Given the description of an element on the screen output the (x, y) to click on. 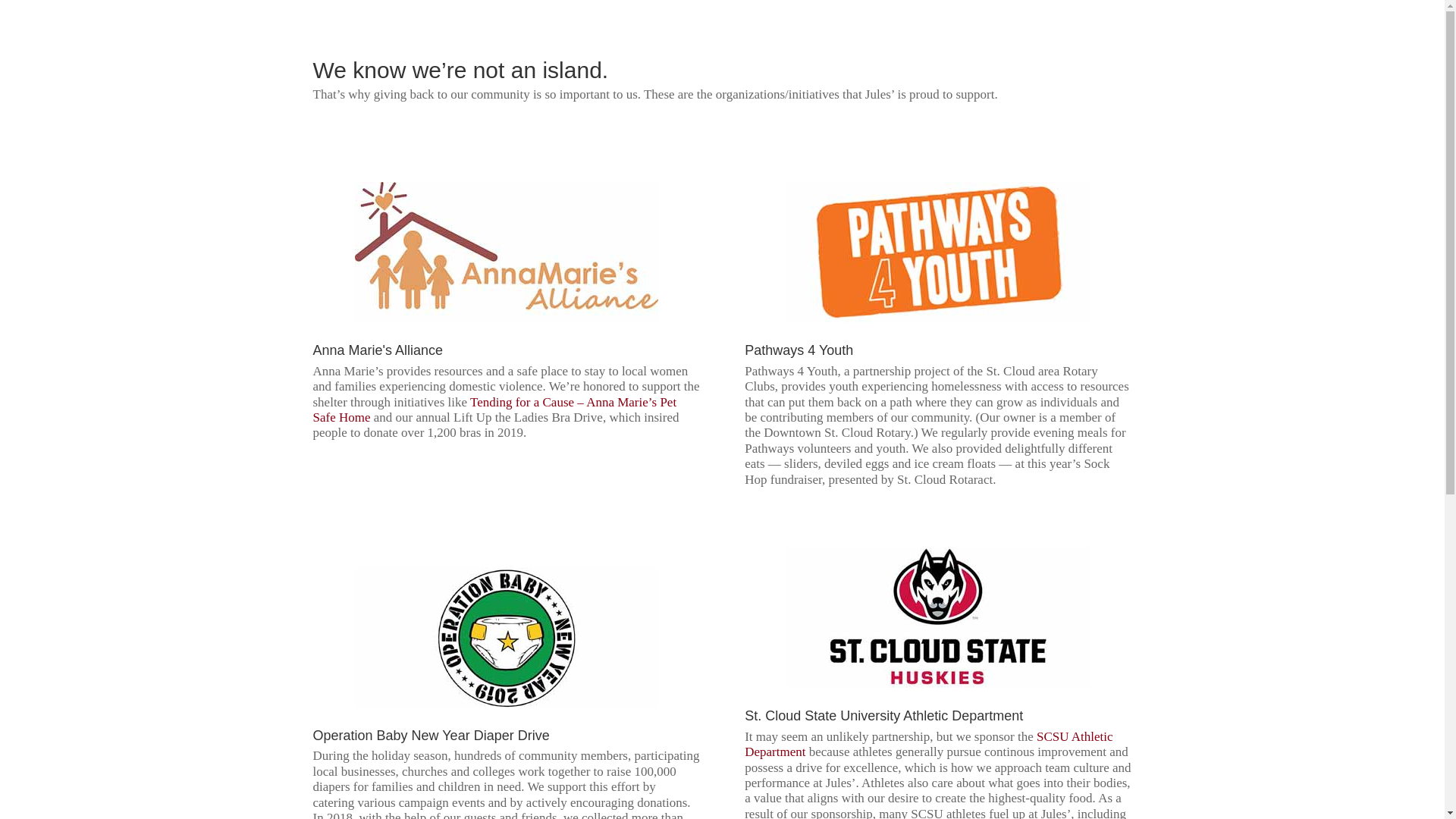
Anna Marie's Alliance (377, 350)
SCSU Athletic Department (928, 744)
Operation Baby New Year Diaper Drive (430, 735)
Pathways 4 Youth (798, 350)
St. Cloud State University Athletic Department (883, 715)
